Given the description of an element on the screen output the (x, y) to click on. 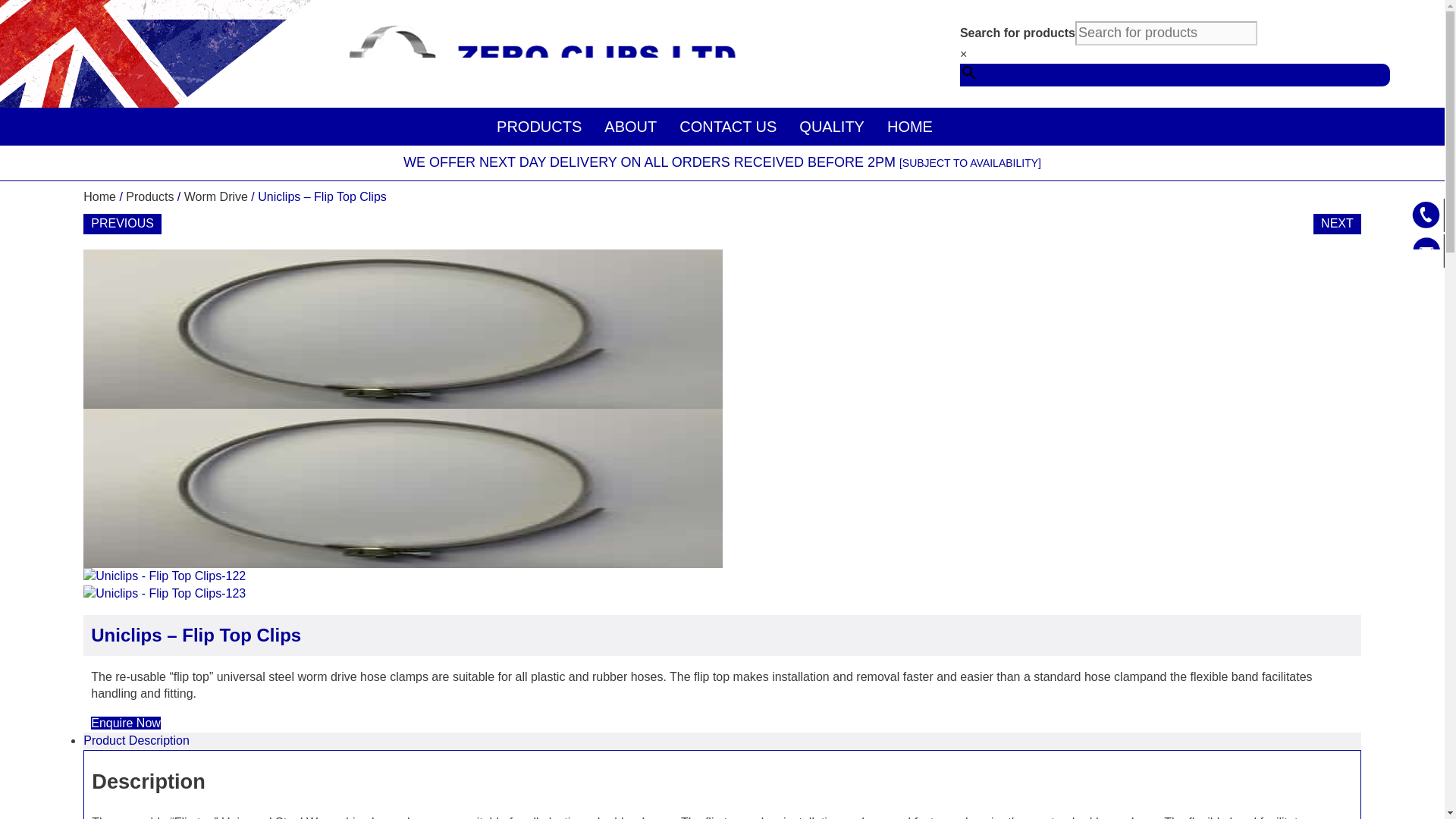
Worm Drive (215, 196)
ABOUT (630, 126)
Uniclips (402, 328)
Uniclips (402, 488)
Home (99, 196)
HOME (909, 126)
PRODUCTS (538, 126)
Uniclips - Flip Top Clips-122 (164, 576)
Uniclips - Flip Top Clips-123 (164, 593)
Products (149, 196)
CONTACT US (727, 126)
PREVIOUS (121, 223)
QUALITY (831, 126)
